Given the description of an element on the screen output the (x, y) to click on. 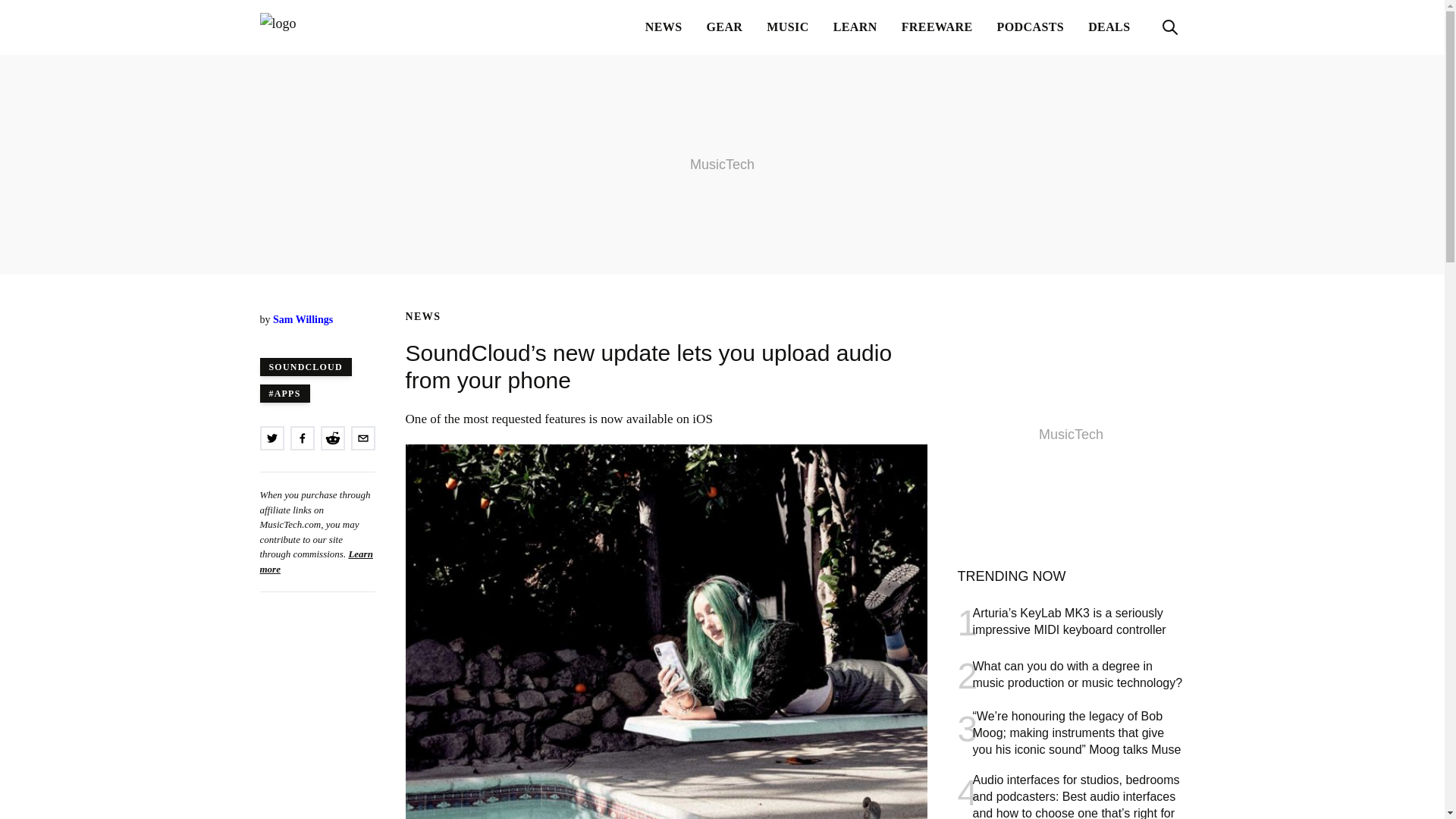
PODCASTS (1030, 27)
FREEWARE (936, 27)
DEALS (1108, 27)
SOUNDCLOUD (304, 366)
MusicTech (334, 27)
MUSIC (786, 27)
SoundCloud (304, 366)
NEWS (663, 27)
Published February 18, 2020 4:27PM (316, 335)
LEARN (855, 27)
